Given the description of an element on the screen output the (x, y) to click on. 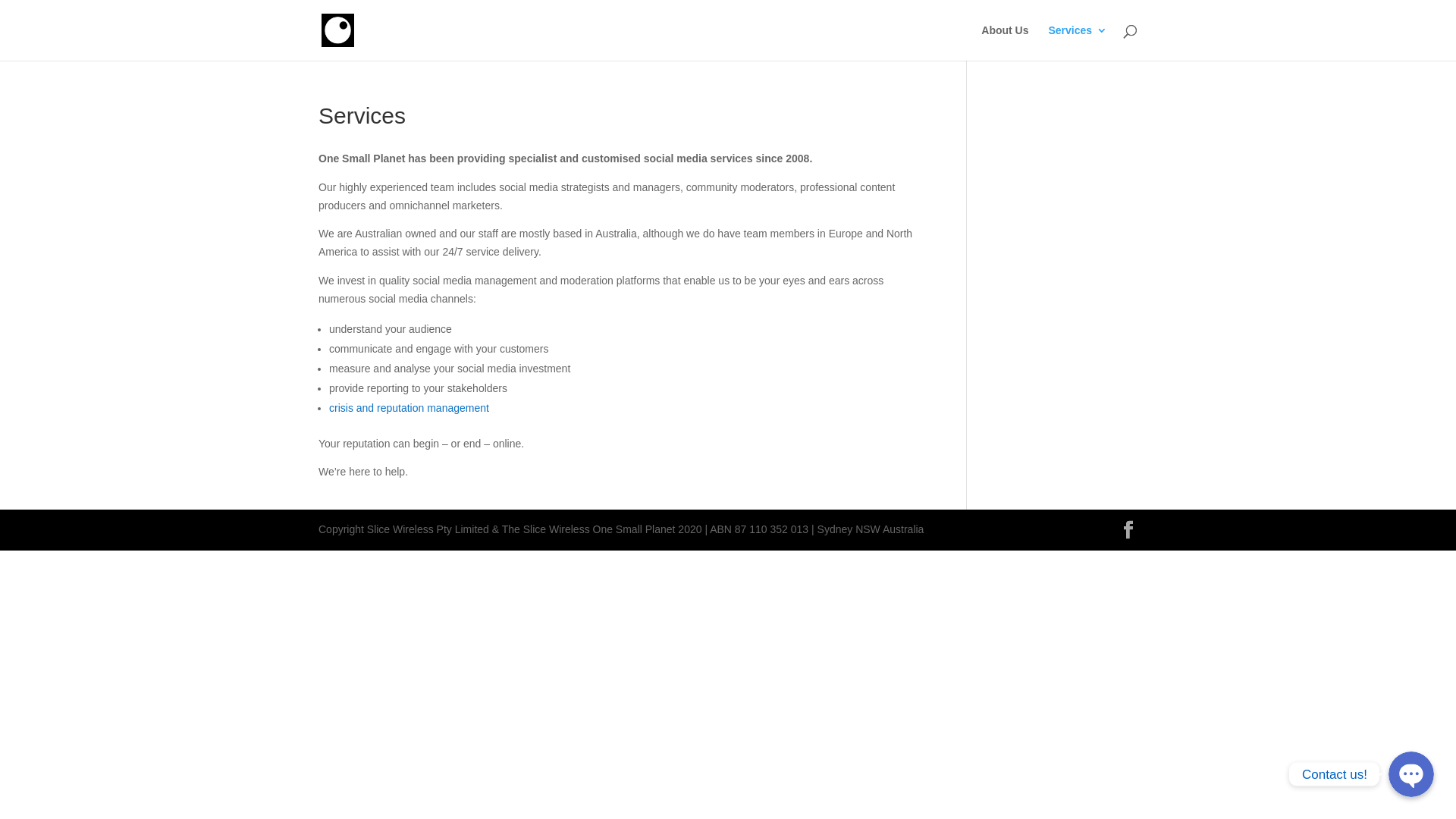
crisis and reputation management Element type: text (409, 407)
About Us Element type: text (1004, 42)
Services Element type: text (1077, 42)
